Given the description of an element on the screen output the (x, y) to click on. 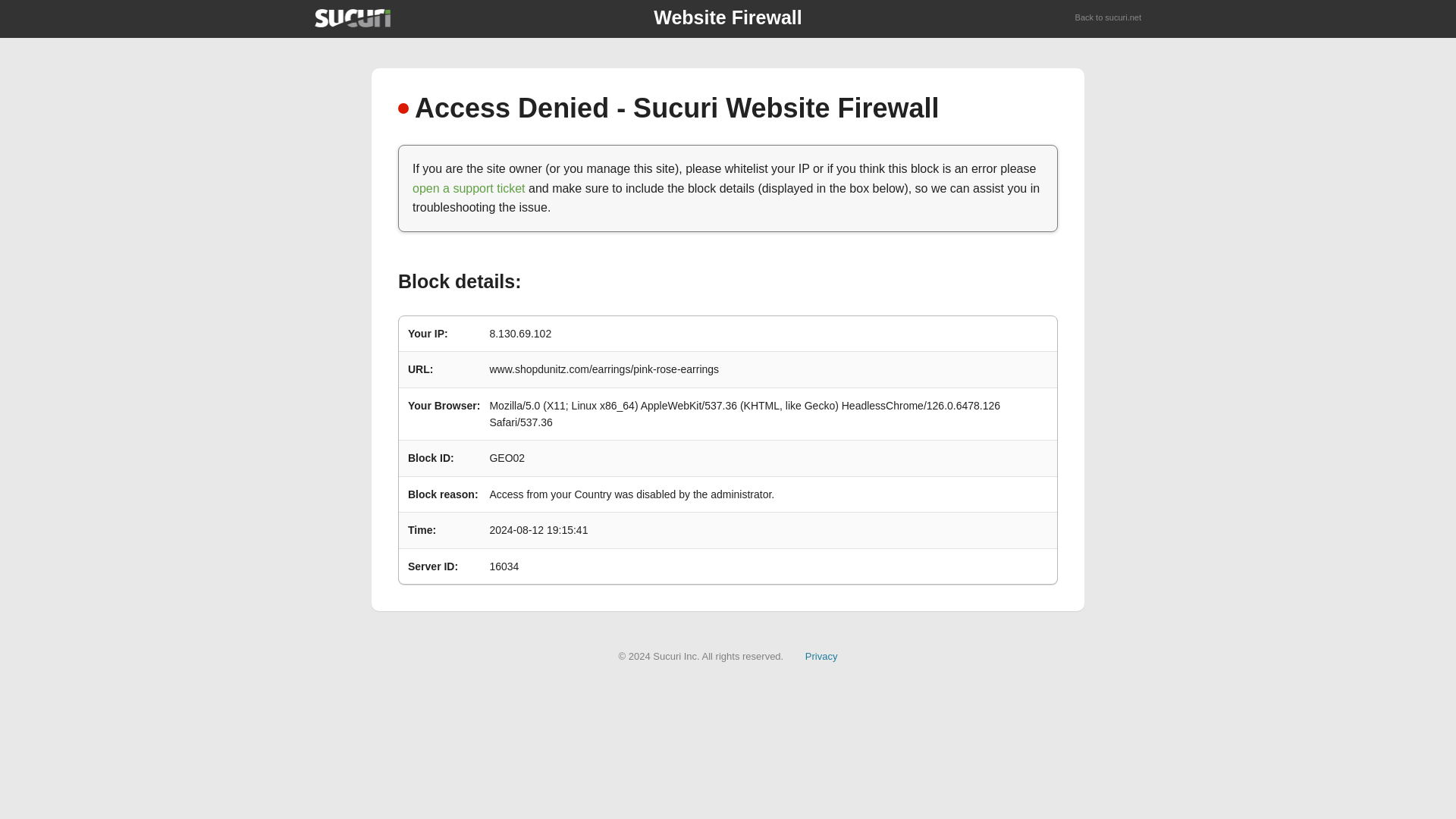
Privacy (821, 655)
open a support ticket (468, 187)
Back to sucuri.net (1108, 18)
